Given the description of an element on the screen output the (x, y) to click on. 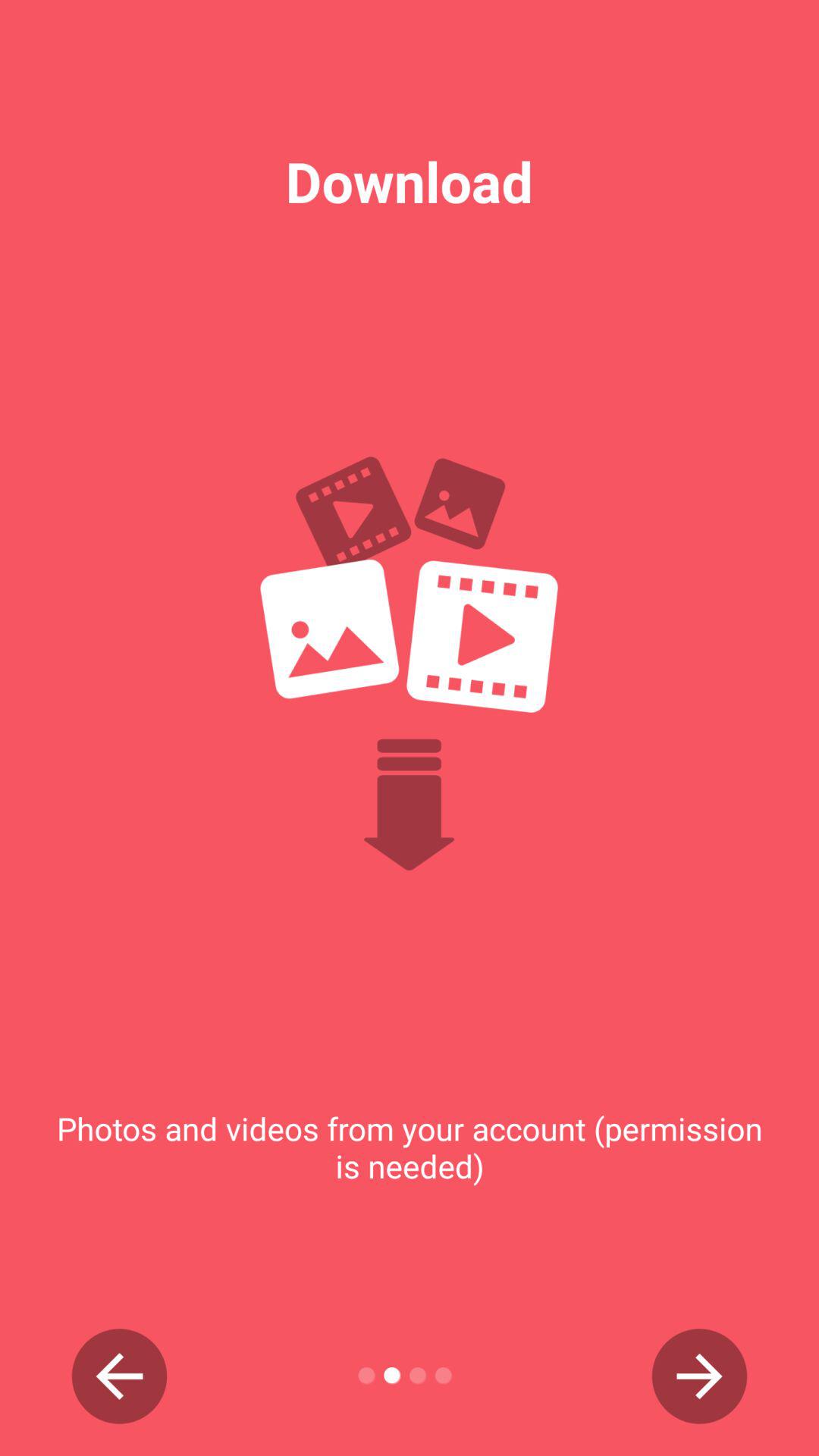
press item below the photos and videos item (119, 1376)
